Given the description of an element on the screen output the (x, y) to click on. 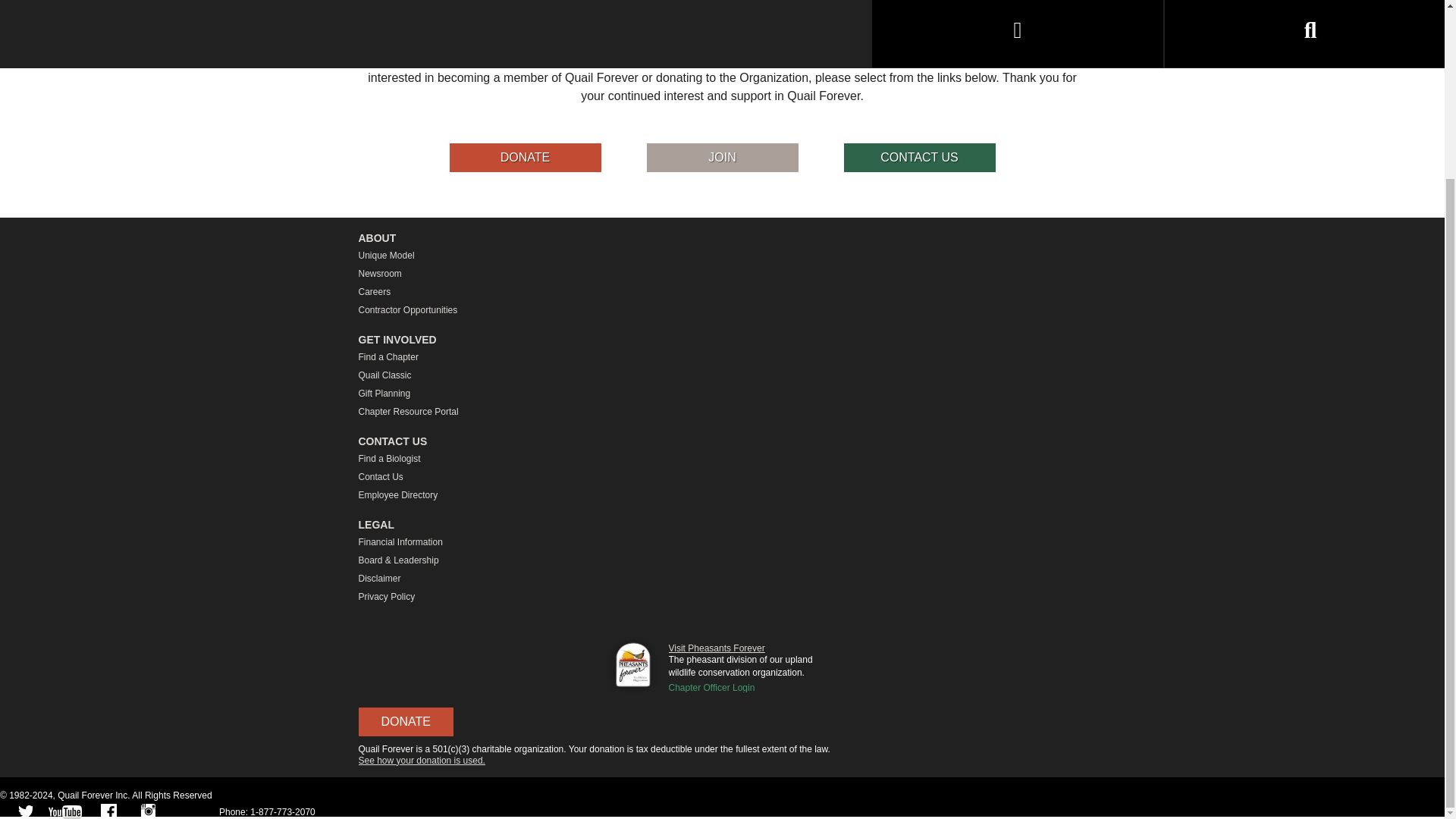
Careers (722, 291)
Unique Model (722, 255)
Newsroom (722, 273)
JOIN (721, 157)
Contractor Opportunities (722, 310)
Find a Chapter (722, 357)
CONTACT US (918, 157)
Chapter Resource Portal (722, 411)
DONATE (523, 157)
Quail Classic (722, 375)
Gift Planning (722, 393)
Find a Biologist (722, 458)
